Given the description of an element on the screen output the (x, y) to click on. 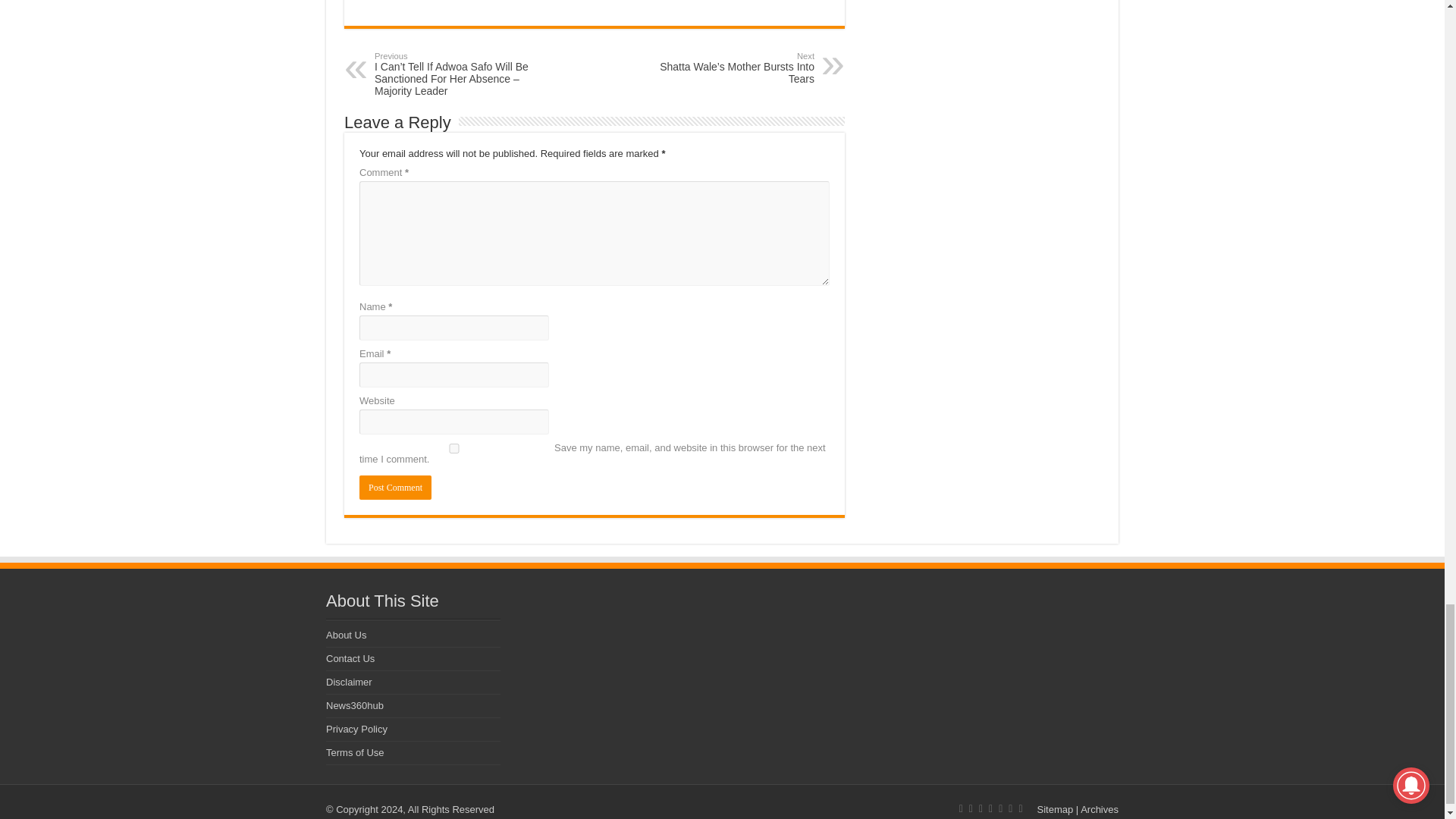
yes (453, 448)
Post Comment (394, 487)
